Given the description of an element on the screen output the (x, y) to click on. 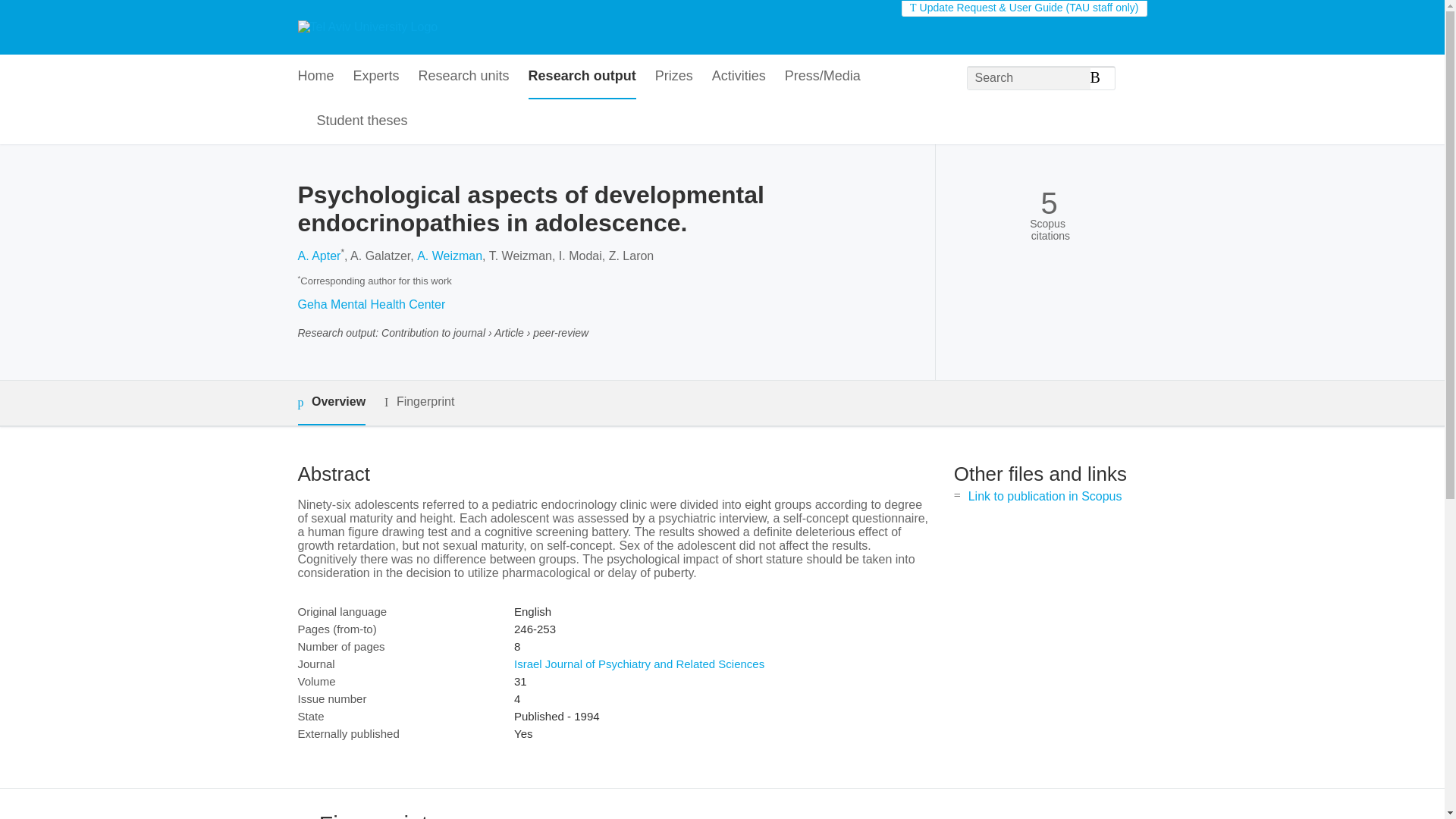
Link to publication in Scopus (1045, 495)
Israel Journal of Psychiatry and Related Sciences (638, 663)
Overview (331, 402)
A. Apter (318, 255)
Activities (738, 76)
Tel Aviv University Home (367, 27)
Experts (375, 76)
Fingerprint (419, 402)
A. Weizman (448, 255)
